Given the description of an element on the screen output the (x, y) to click on. 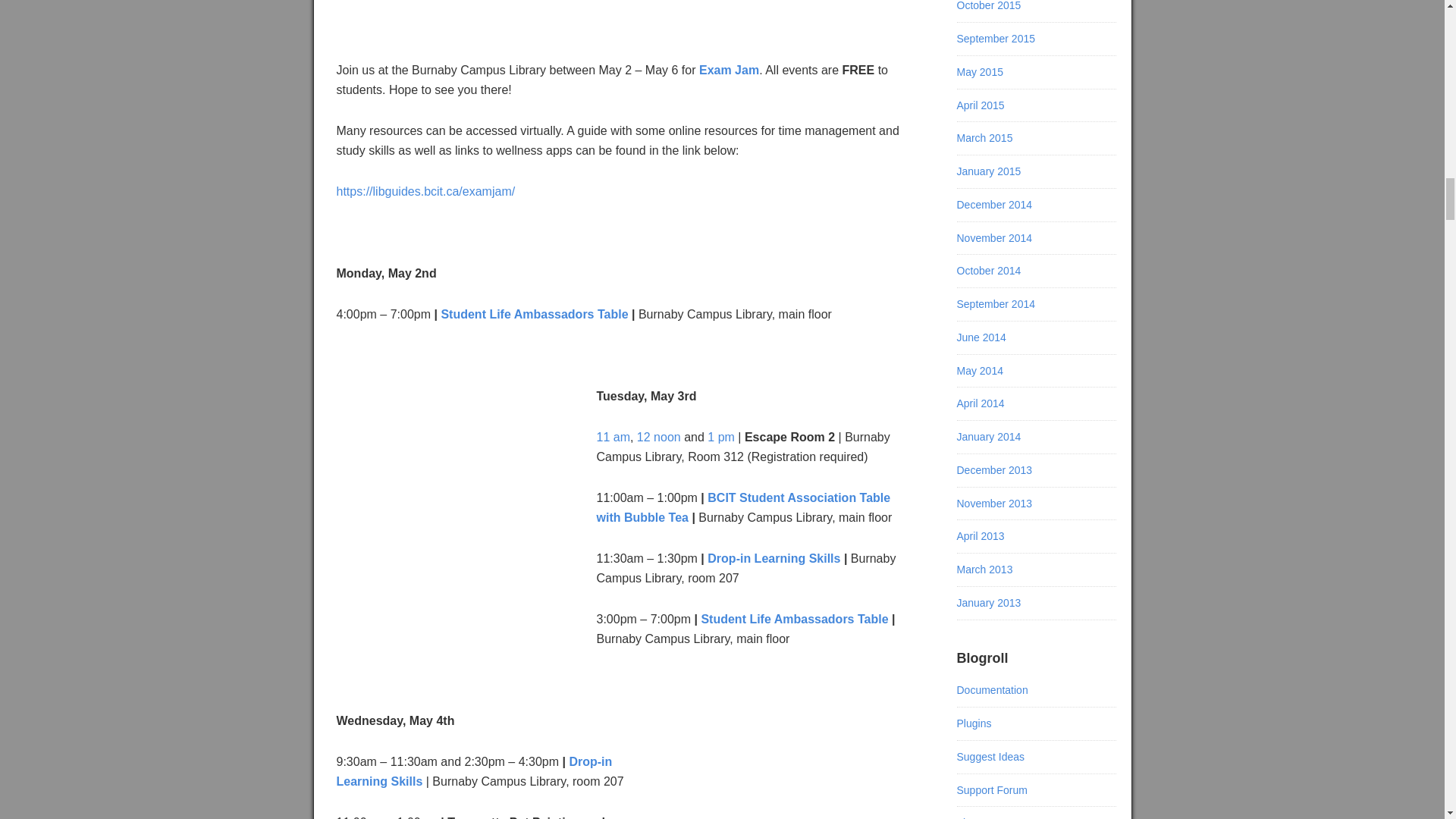
Student Life Ambassadors Table (794, 618)
Student Life Ambassadors Table (534, 314)
1 pm (721, 436)
Drop-in Learning Skills (474, 771)
Exam Jam (728, 69)
Drop-in Learning Skills (773, 558)
BCIT Student Association Table with Bubble Tea (742, 507)
11 am (611, 436)
12 noon (659, 436)
